Given the description of an element on the screen output the (x, y) to click on. 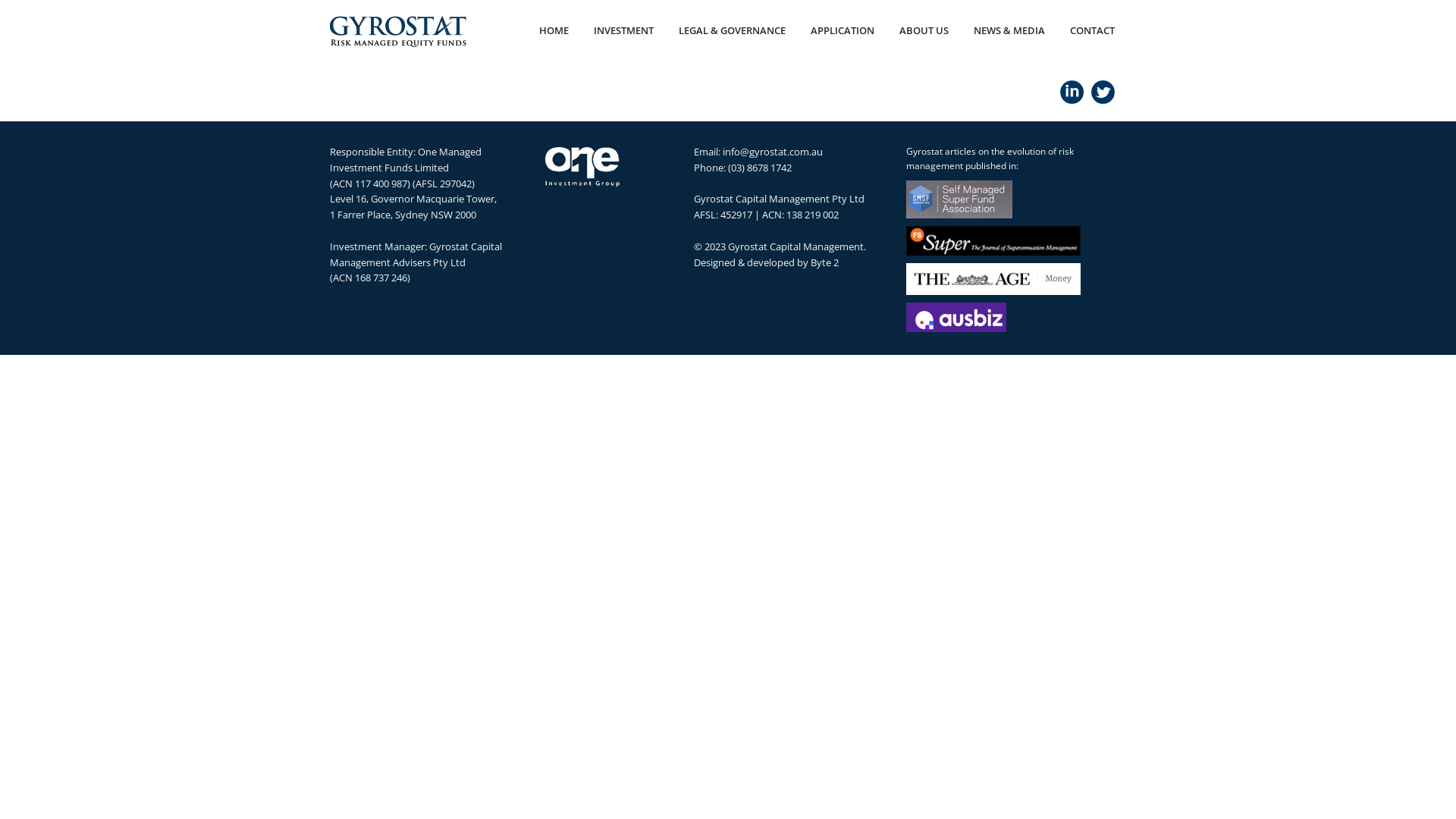
APPLICATION Element type: text (842, 30)
LEGAL & GOVERNANCE Element type: text (732, 30)
NEWS & MEDIA Element type: text (1009, 30)
info@gyrostat.com.au Element type: text (772, 151)
ABOUT US Element type: text (924, 30)
INVESTMENT Element type: text (623, 30)
HOME Element type: text (553, 30)
Byte 2 Element type: text (824, 262)
CONTACT Element type: text (1092, 30)
